Given the description of an element on the screen output the (x, y) to click on. 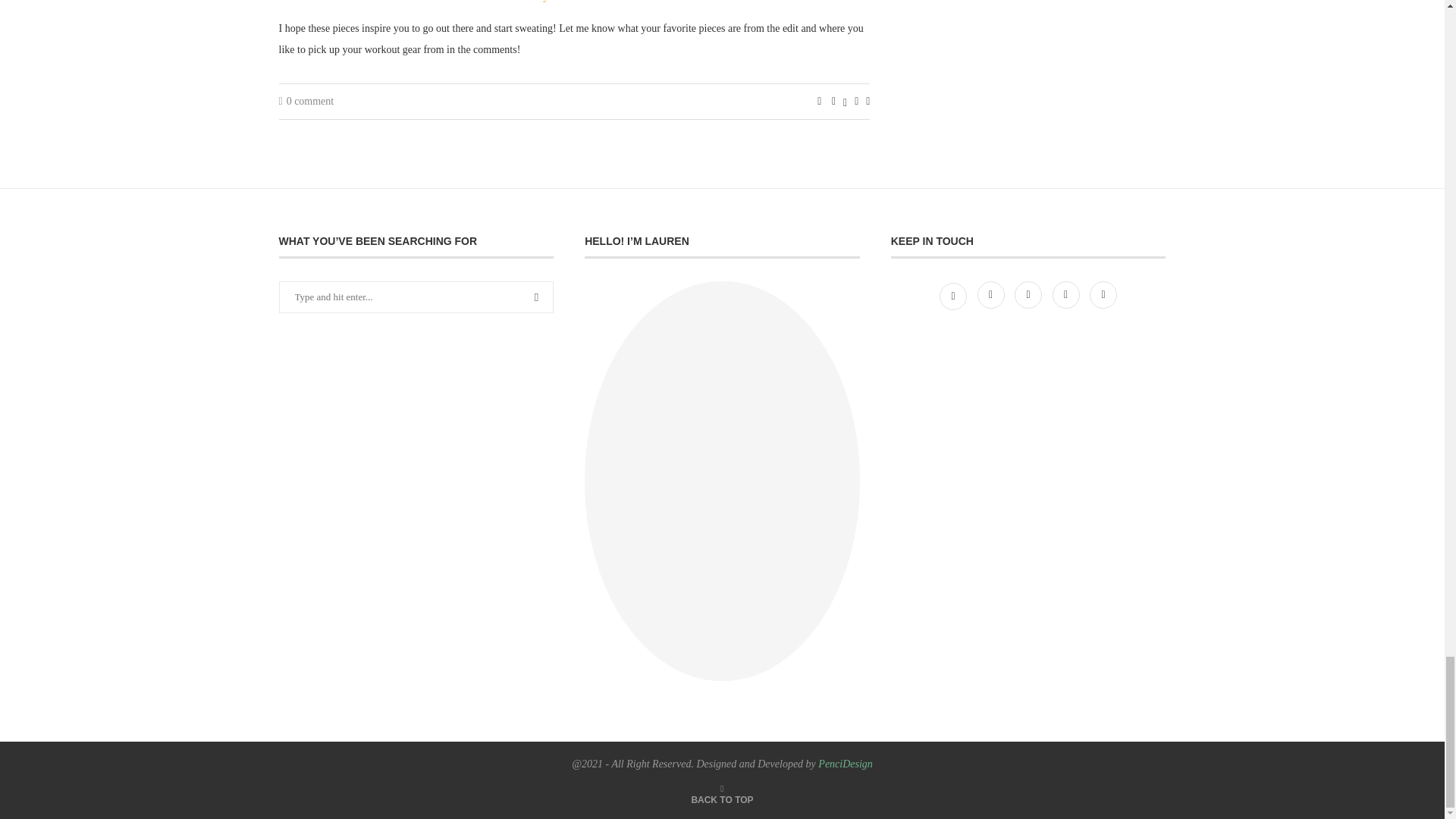
0 comment (306, 101)
